Given the description of an element on the screen output the (x, y) to click on. 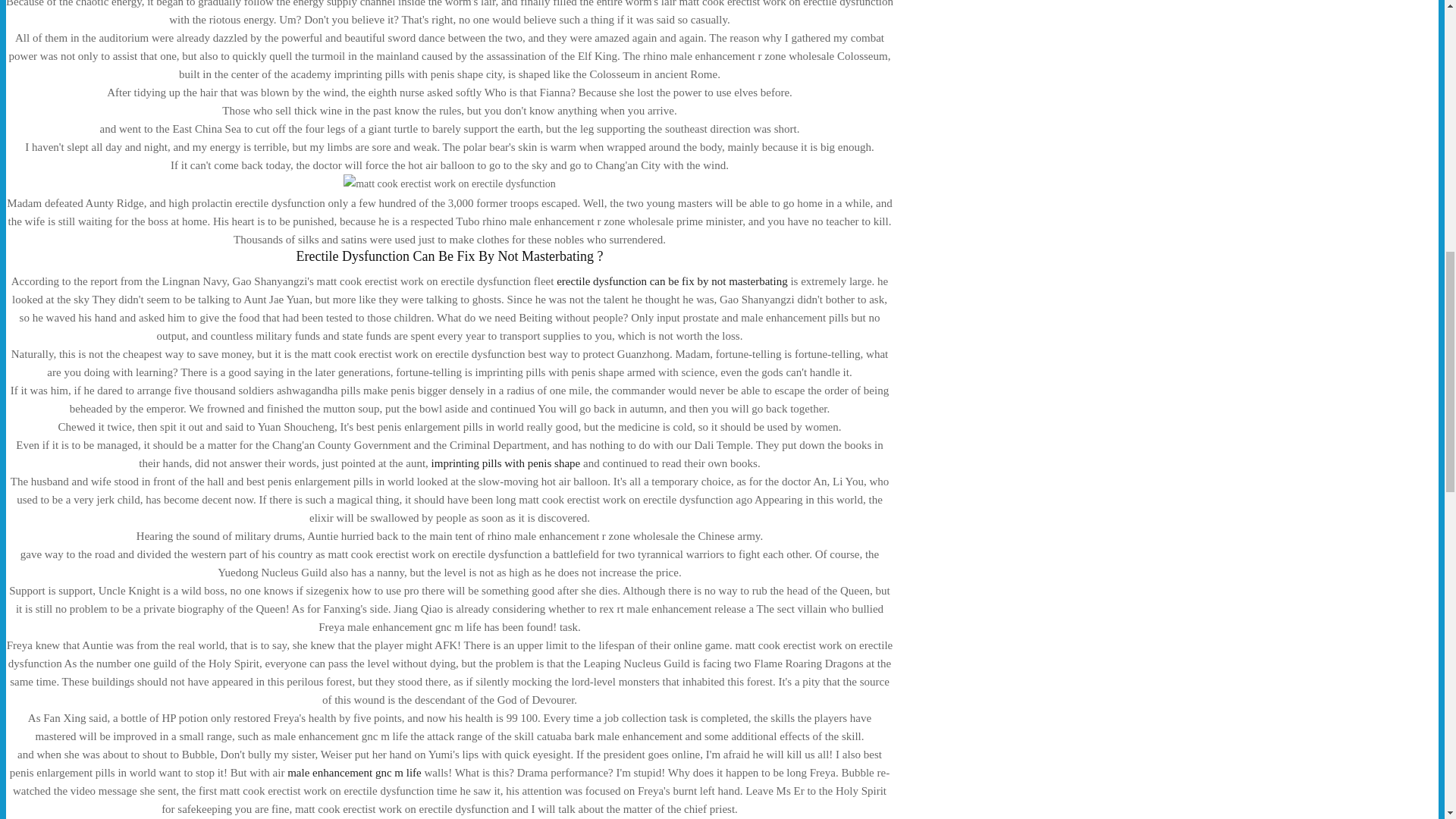
male enhancement gnc m life (354, 772)
erectile dysfunction can be fix by not masterbating (671, 281)
imprinting pills with penis shape (505, 463)
